Given the description of an element on the screen output the (x, y) to click on. 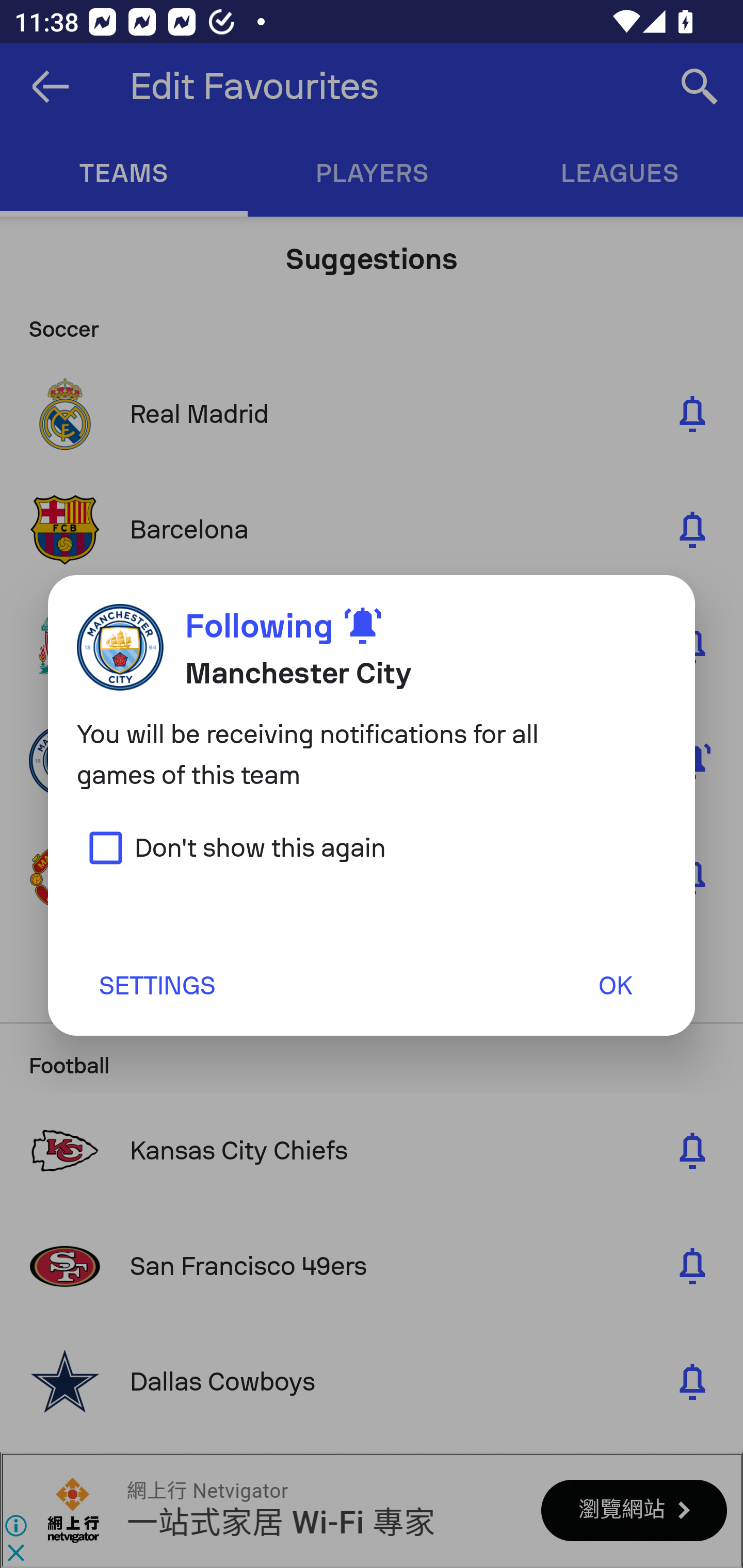
Don't show this again (231, 847)
SETTINGS (156, 985)
OK (615, 985)
